Given the description of an element on the screen output the (x, y) to click on. 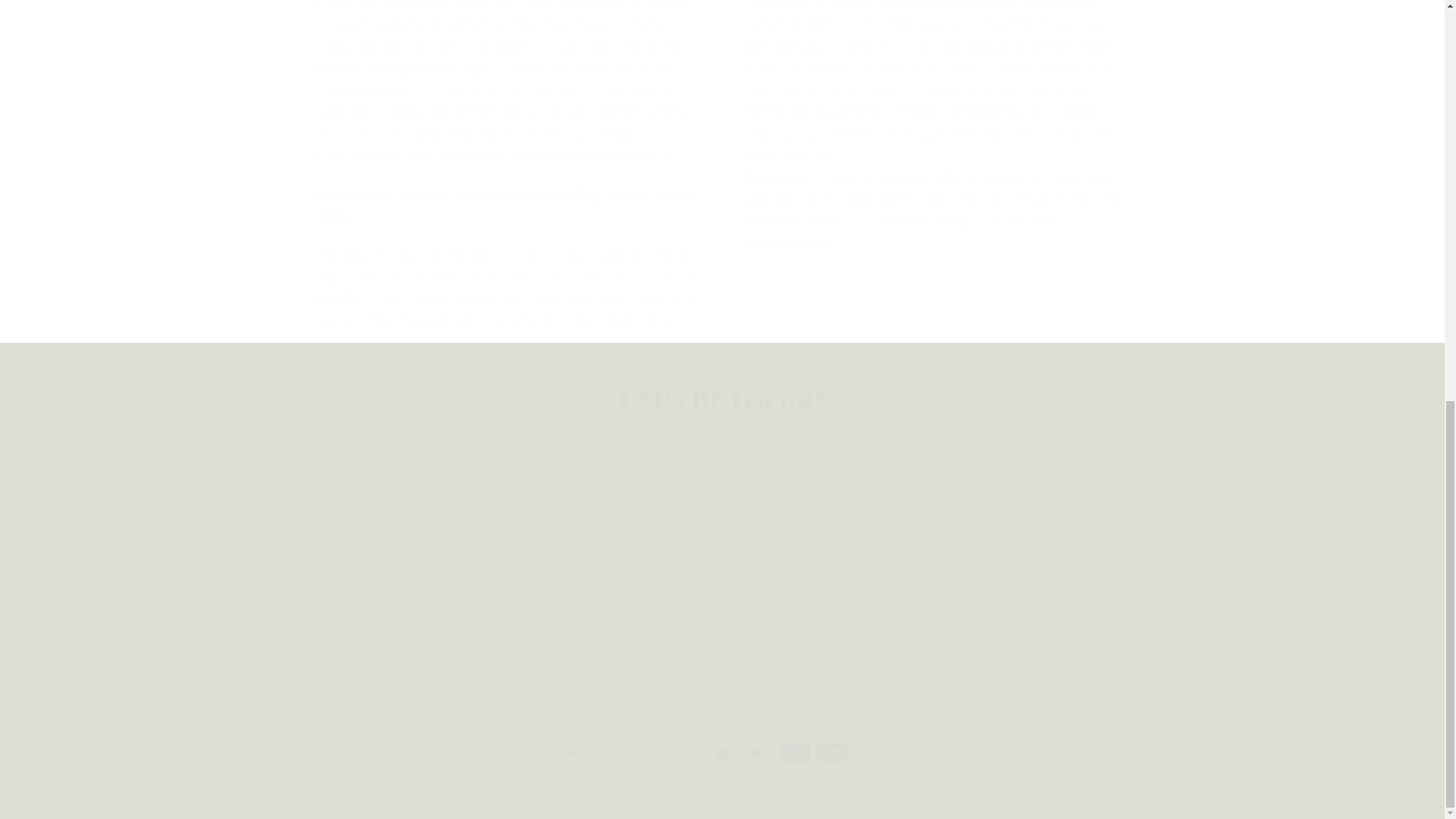
Email (722, 488)
Let's be friends (721, 398)
